Given the description of an element on the screen output the (x, y) to click on. 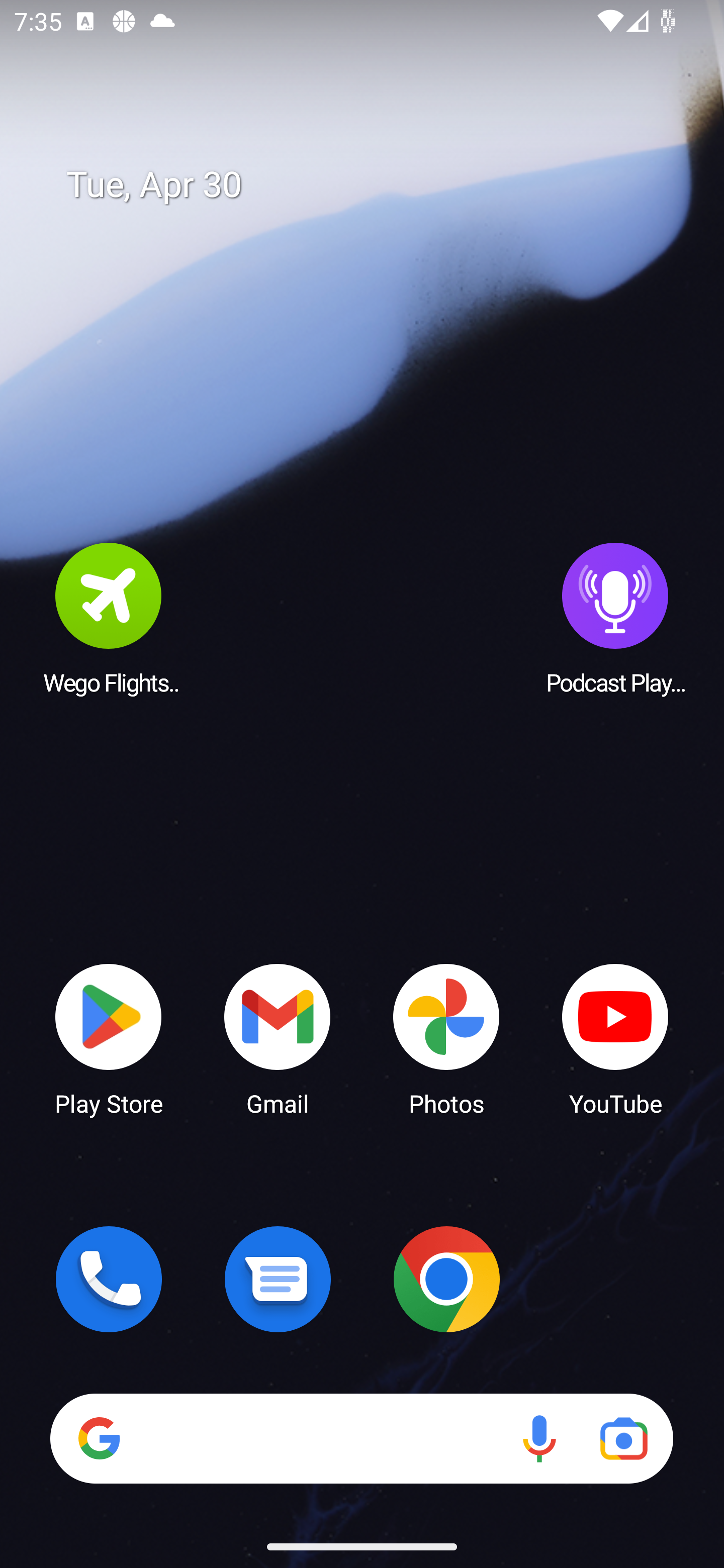
Tue, Apr 30 (375, 184)
Wego Flights & Hotels (108, 617)
Podcast Player (615, 617)
Play Store (108, 1038)
Gmail (277, 1038)
Photos (445, 1038)
YouTube (615, 1038)
Phone (108, 1279)
Messages (277, 1279)
Chrome (446, 1279)
Voice search (539, 1438)
Google Lens (623, 1438)
